Given the description of an element on the screen output the (x, y) to click on. 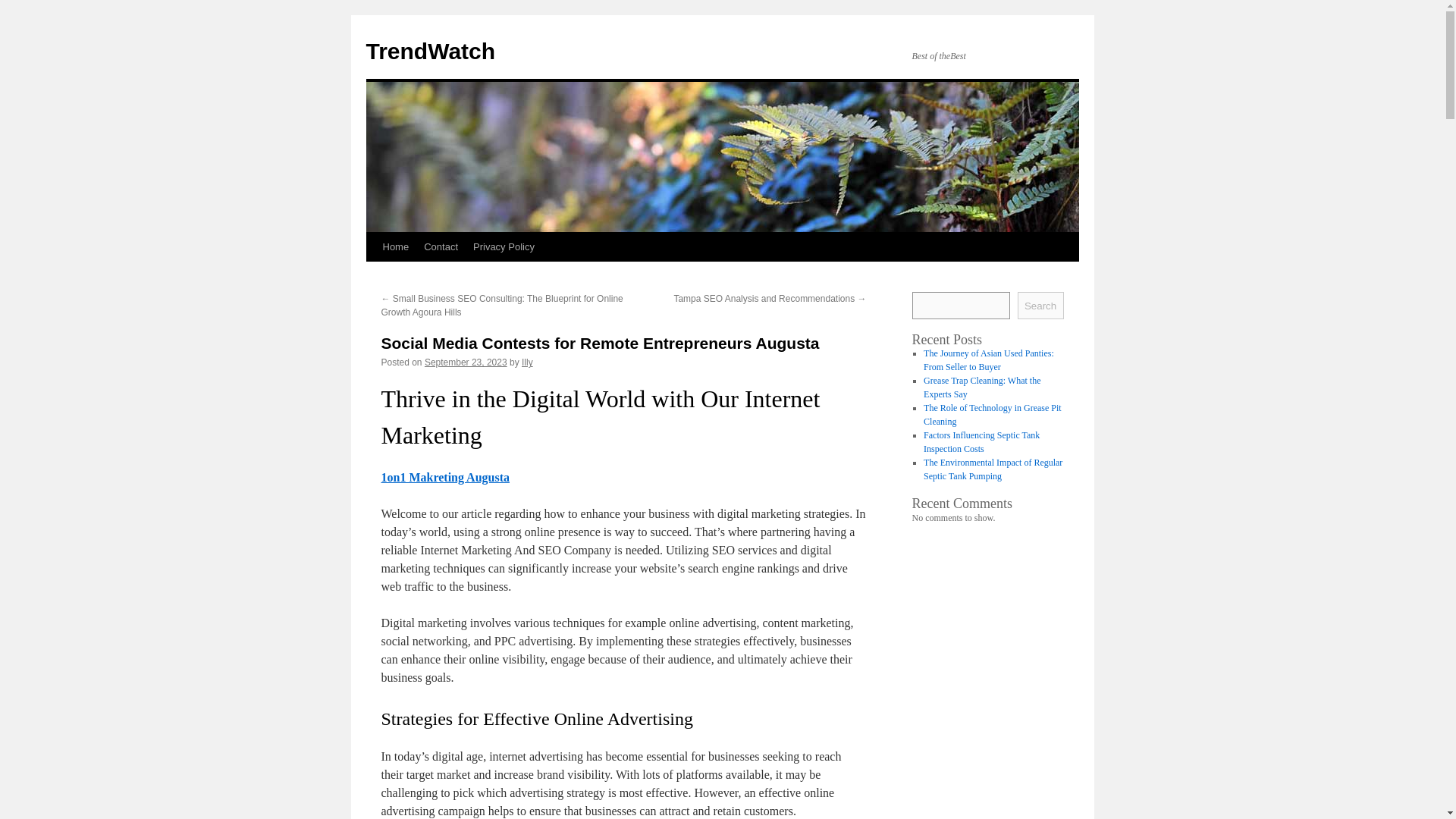
8:13 am (465, 362)
Home (395, 246)
Search (1040, 305)
1on1 Makreting Augusta (444, 477)
The Role of Technology in Grease Pit Cleaning (992, 414)
Factors Influencing Septic Tank Inspection Costs (981, 441)
Privacy Policy (503, 246)
The Environmental Impact of Regular Septic Tank Pumping (992, 469)
Grease Trap Cleaning: What the Experts Say (982, 387)
TrendWatch (430, 50)
September 23, 2023 (465, 362)
Illy (526, 362)
The Journey of Asian Used Panties: From Seller to Buyer (988, 360)
Contact (440, 246)
View all posts by Illy (526, 362)
